Given the description of an element on the screen output the (x, y) to click on. 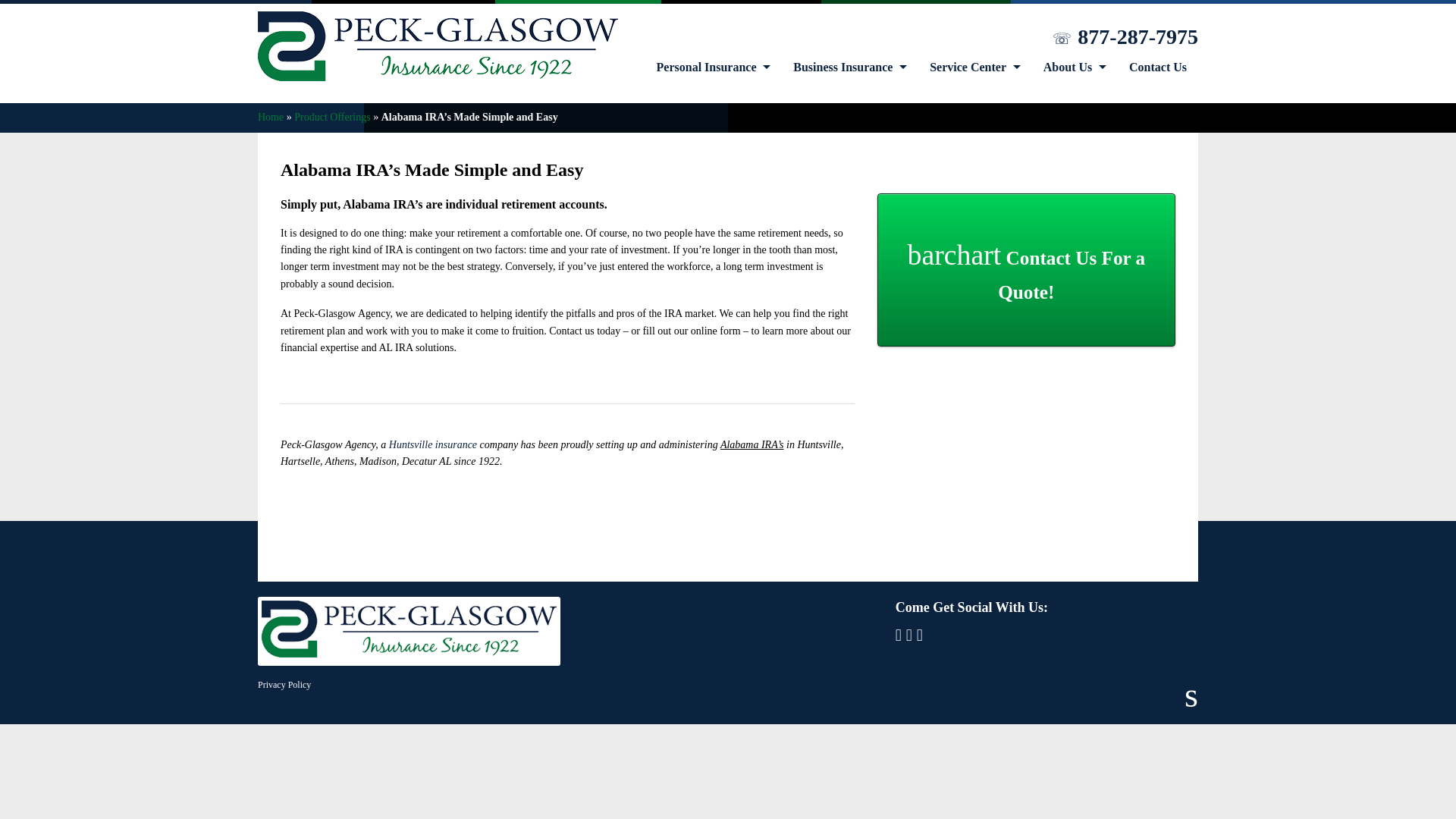
Personal Insurance (714, 66)
Like us on Facebook (898, 634)
Business Insurance (849, 66)
Service Center (975, 66)
Follow us on Twitter (920, 634)
Peck-Glasgow Agency Home (437, 75)
About Us (1075, 66)
Powered By Zywave - Link to zywave.com (1191, 695)
Peck-Glasgow Insurance (408, 631)
Connect with us on LinkedIn (908, 634)
